Given the description of an element on the screen output the (x, y) to click on. 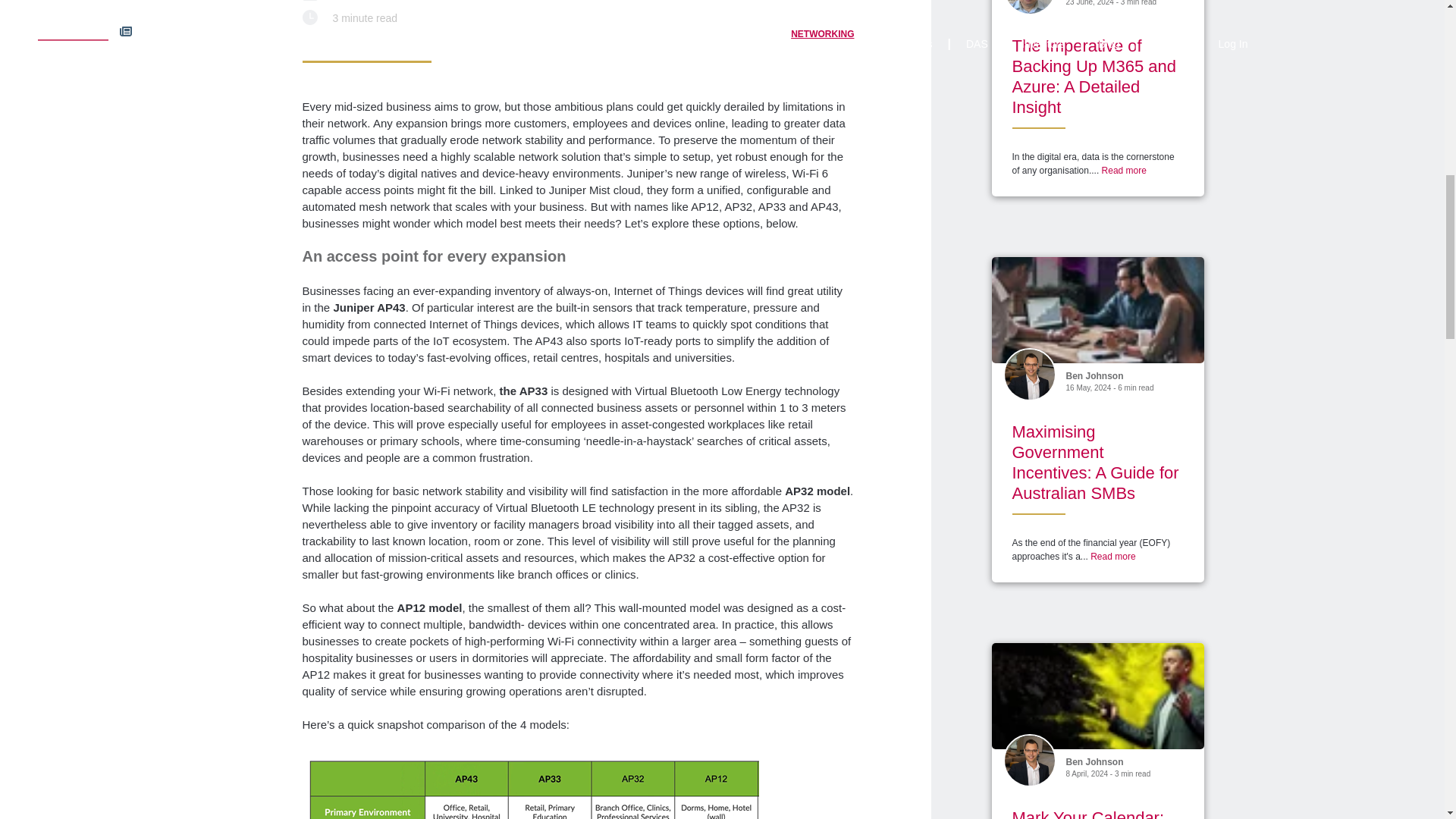
NETWORKING (820, 33)
